Given the description of an element on the screen output the (x, y) to click on. 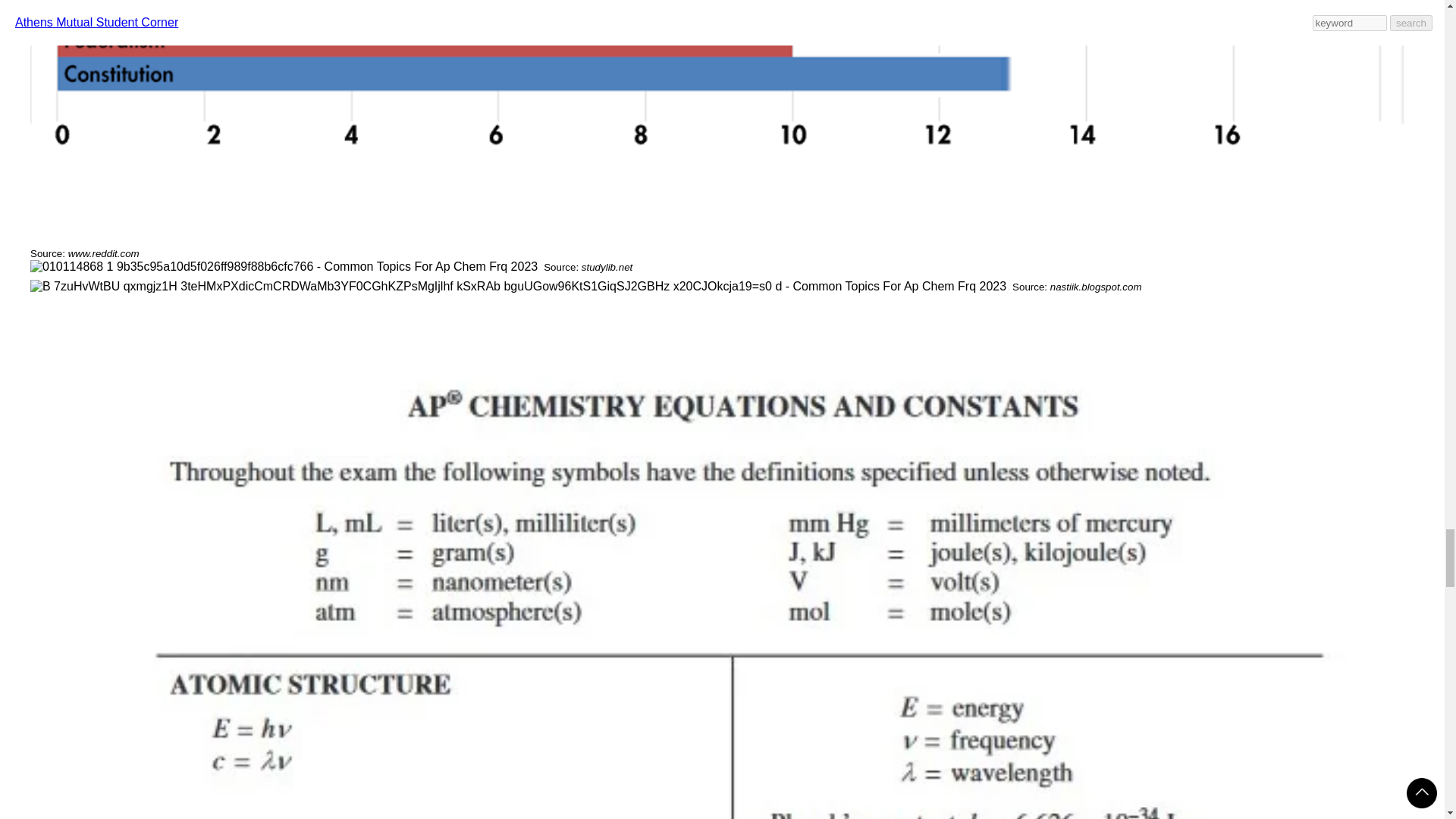
Common Topics For Ap Chem Frq 2023 (283, 266)
Common Topics For Ap Chem Frq 2023 (518, 286)
